Given the description of an element on the screen output the (x, y) to click on. 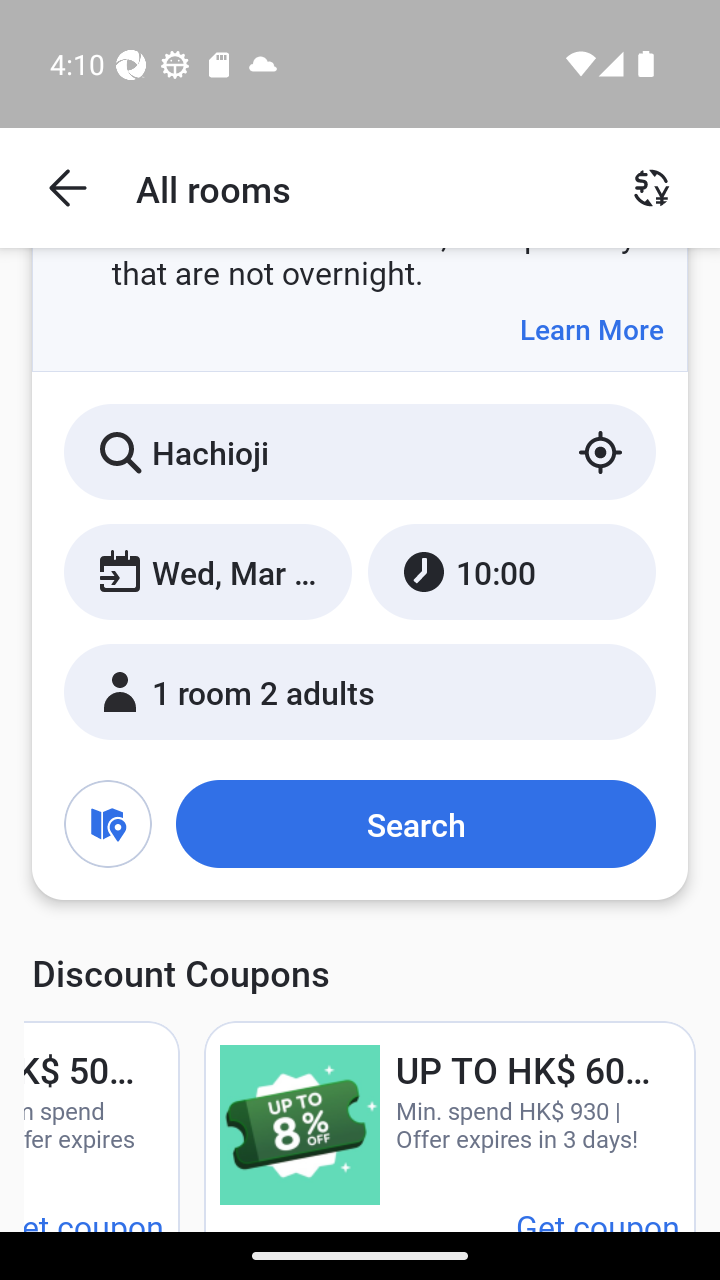
Learn More (591, 329)
Hachioji (359, 452)
Wed, Mar 13 (208, 571)
10:00 (511, 571)
1 room 2 adults (359, 691)
Search (415, 823)
